Given the description of an element on the screen output the (x, y) to click on. 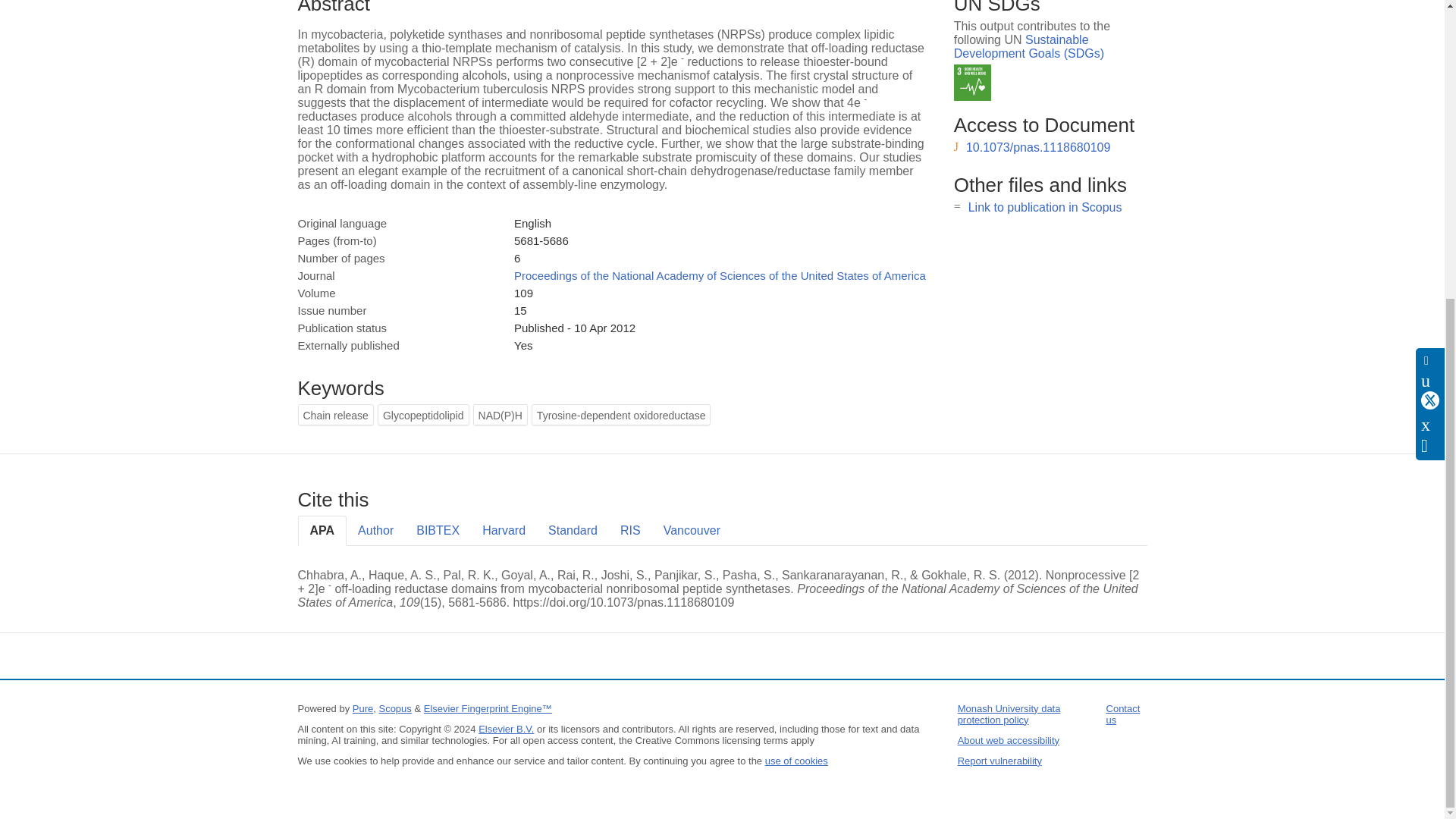
About web accessibility (1008, 740)
SDG 3 - Good Health and Well-being (972, 82)
Elsevier B.V. (506, 728)
Scopus (394, 708)
Pure (362, 708)
Report vulnerability (1000, 760)
Link to publication in Scopus (1045, 206)
Monash University data protection policy (1009, 713)
Contact us (1123, 713)
use of cookies (796, 760)
